Given the description of an element on the screen output the (x, y) to click on. 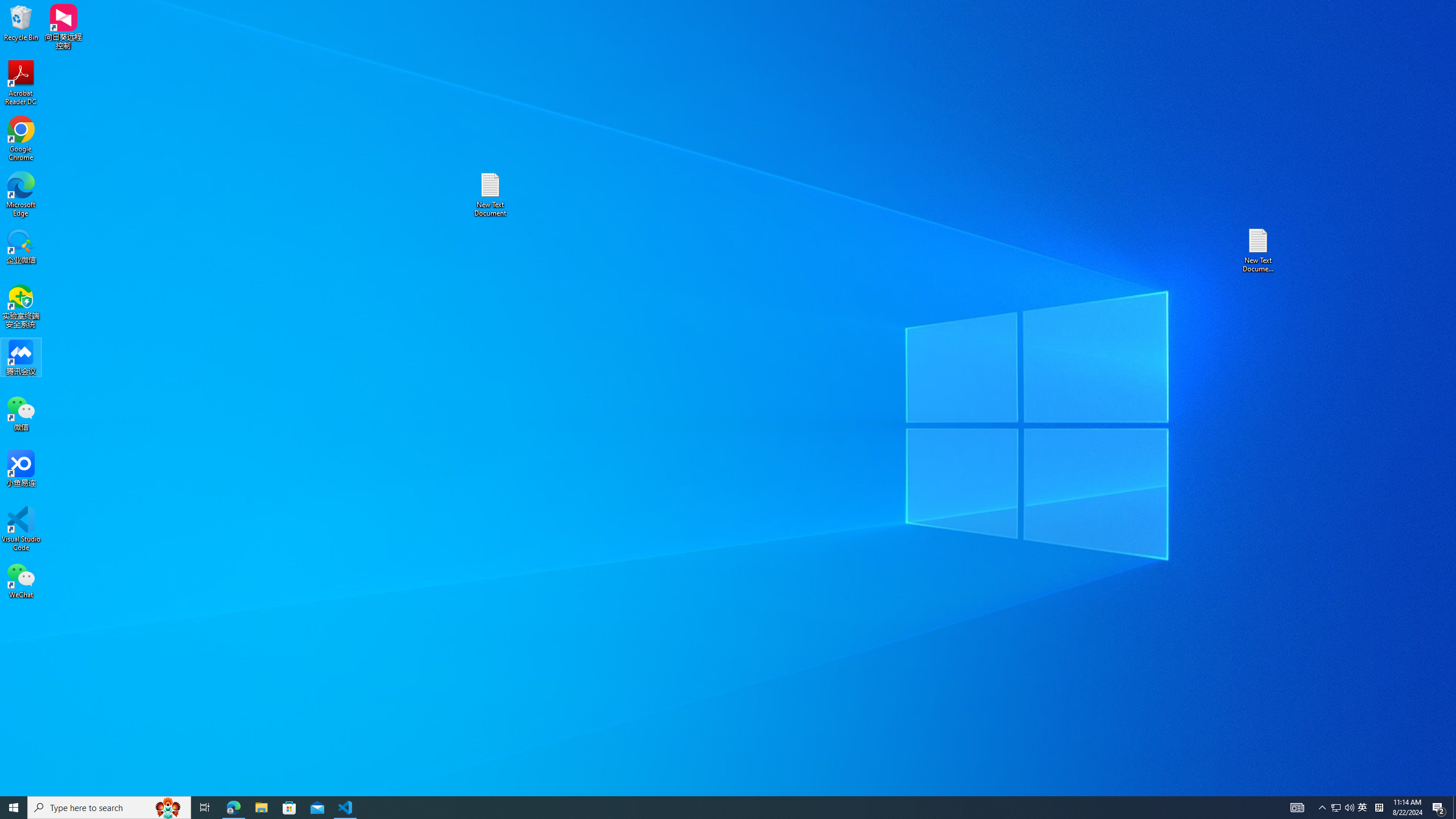
Visual Studio Code (21, 528)
New Text Document (489, 194)
Recycle Bin (21, 22)
